Given the description of an element on the screen output the (x, y) to click on. 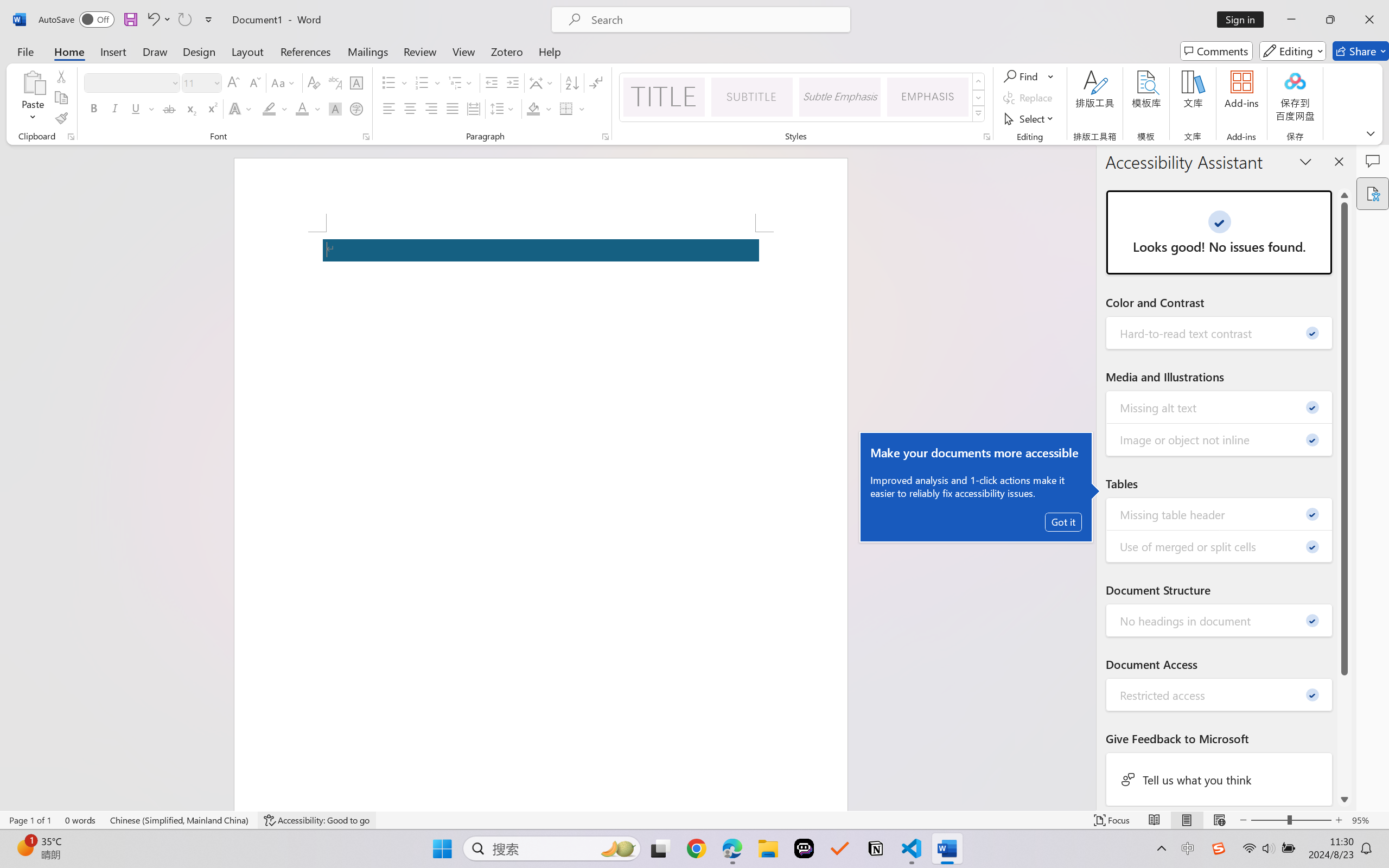
Repeat Accessibility Checker (184, 19)
